Given the description of an element on the screen output the (x, y) to click on. 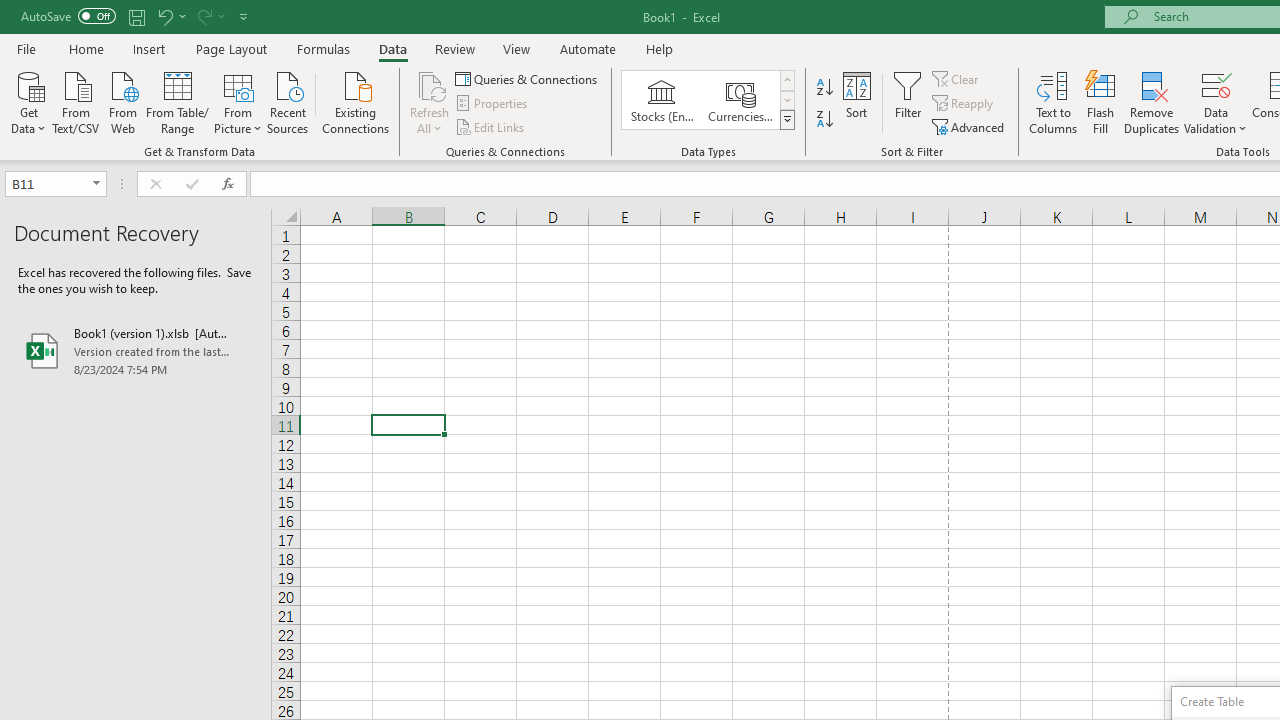
Edit Links (491, 126)
Currencies (English) (740, 100)
Sort A to Z (824, 87)
Filter (908, 102)
From Web (122, 101)
